Given the description of an element on the screen output the (x, y) to click on. 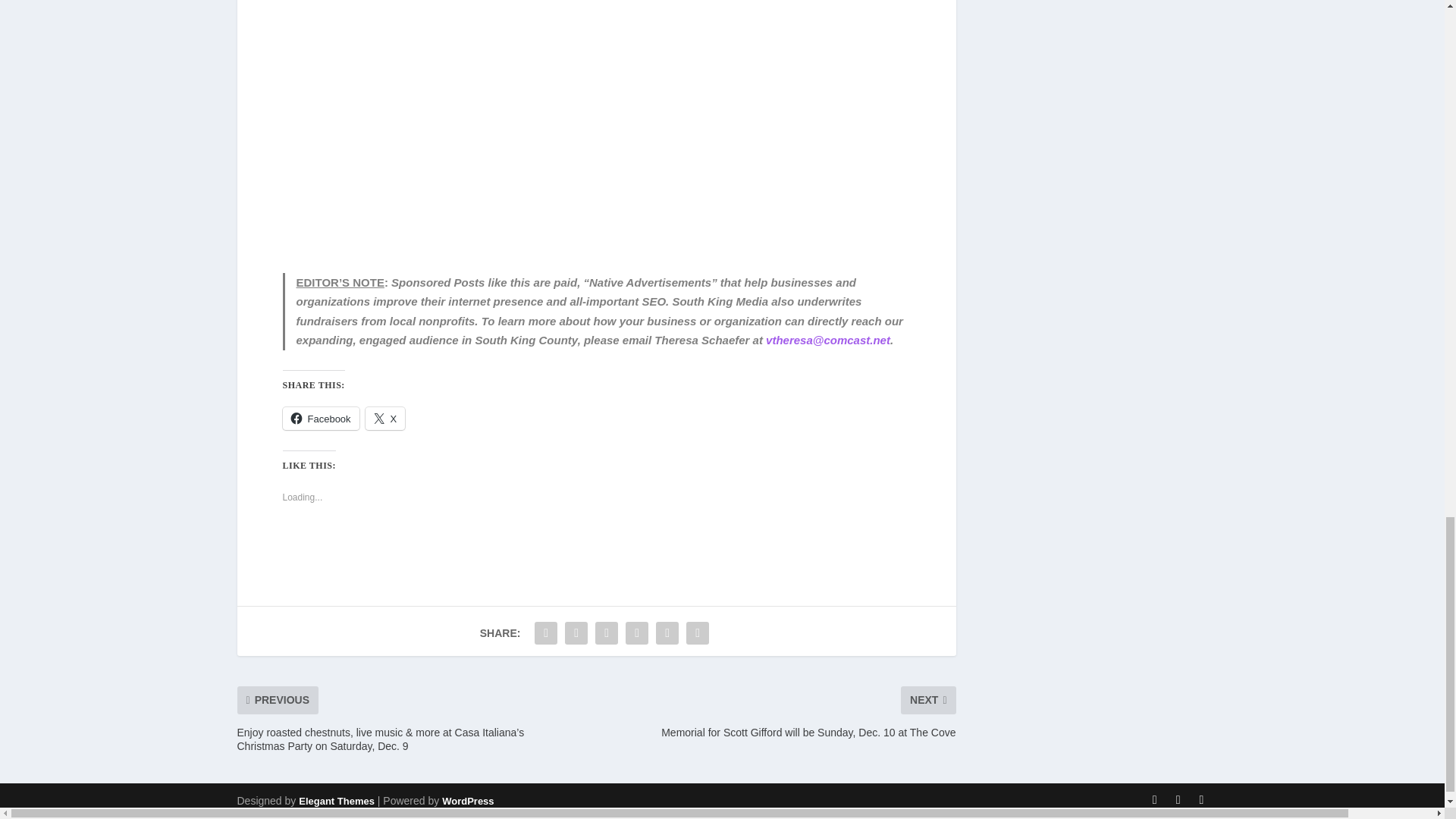
Click to share on X (385, 418)
X (385, 418)
Facebook (320, 418)
Click to share on Facebook (320, 418)
